Given the description of an element on the screen output the (x, y) to click on. 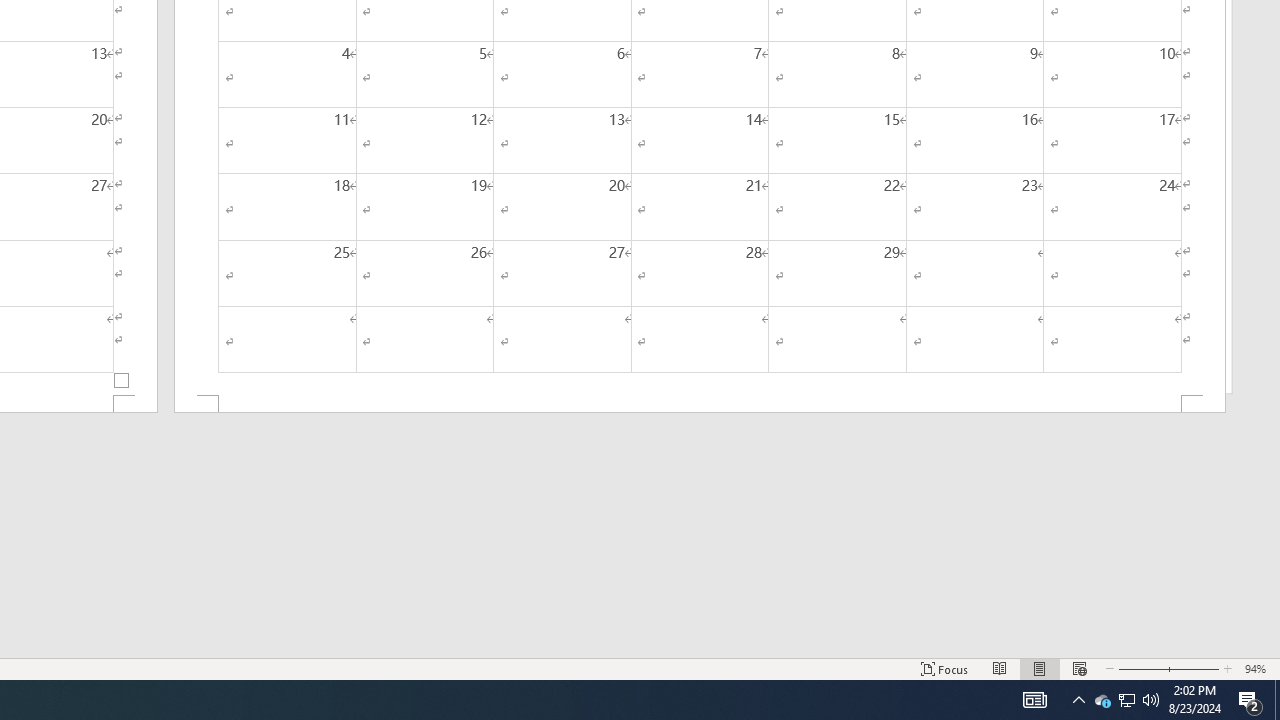
Action Center, 2 new notifications (1250, 699)
Footer -Section 2- (700, 404)
Zoom Out (1140, 668)
Notification Chevron (1078, 699)
Focus  (944, 668)
Read Mode (1000, 668)
AutomationID: 4105 (1034, 699)
Web Layout (1079, 668)
User Promoted Notification Area (1126, 699)
